Given the description of an element on the screen output the (x, y) to click on. 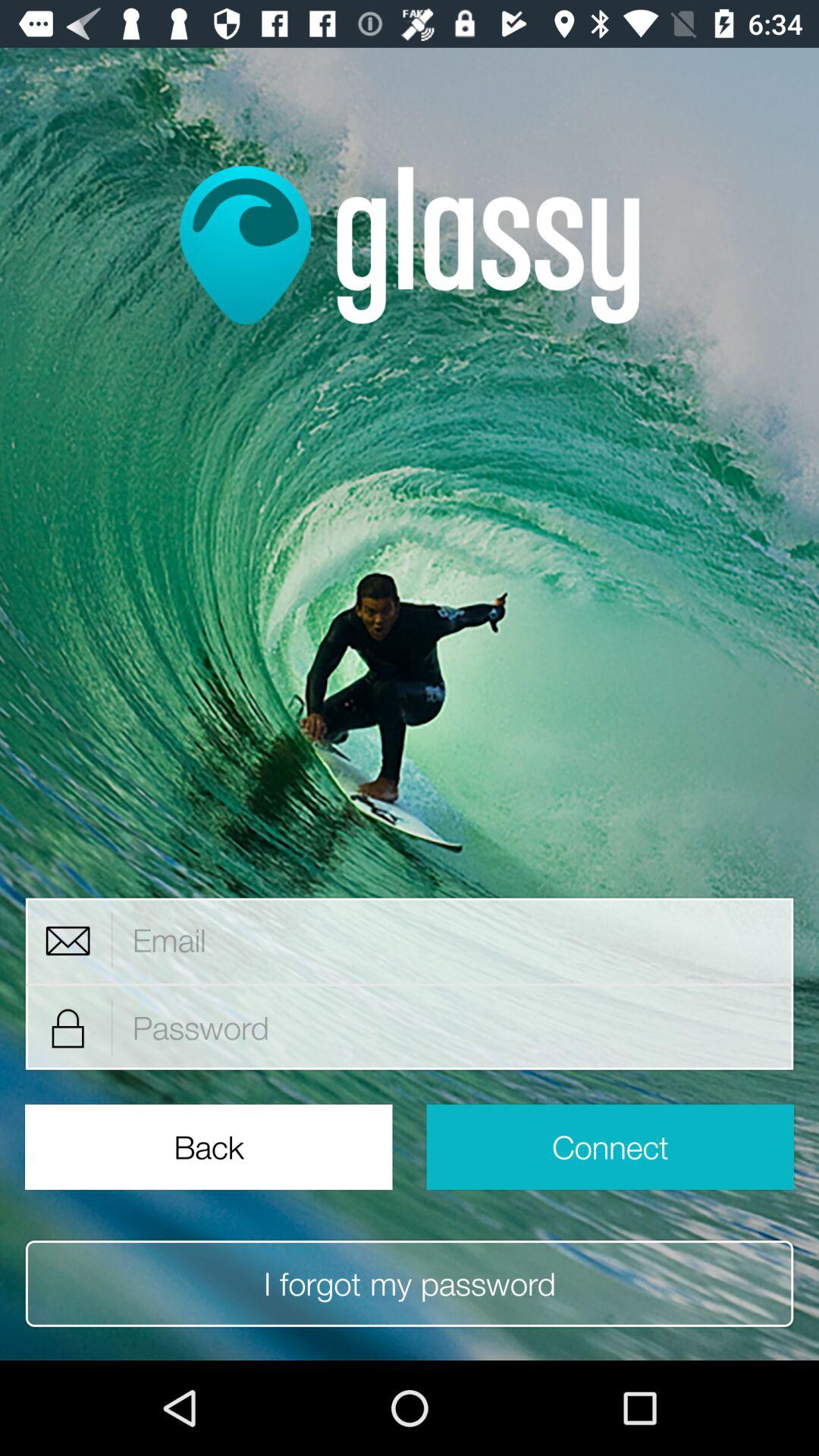
choose connect icon (609, 1146)
